Given the description of an element on the screen output the (x, y) to click on. 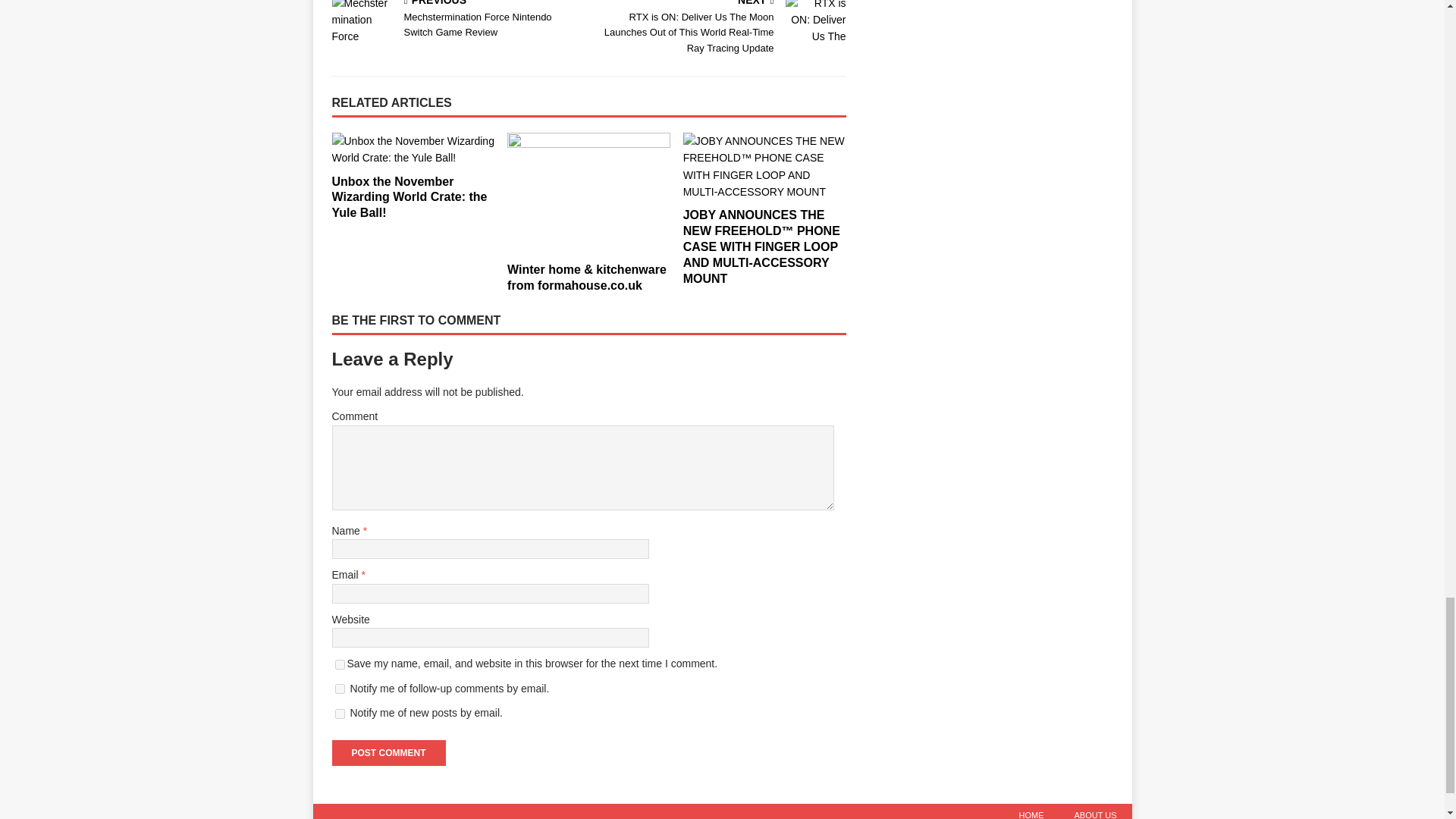
subscribe (339, 688)
Post Comment (388, 752)
yes (339, 664)
subscribe (339, 714)
